Given the description of an element on the screen output the (x, y) to click on. 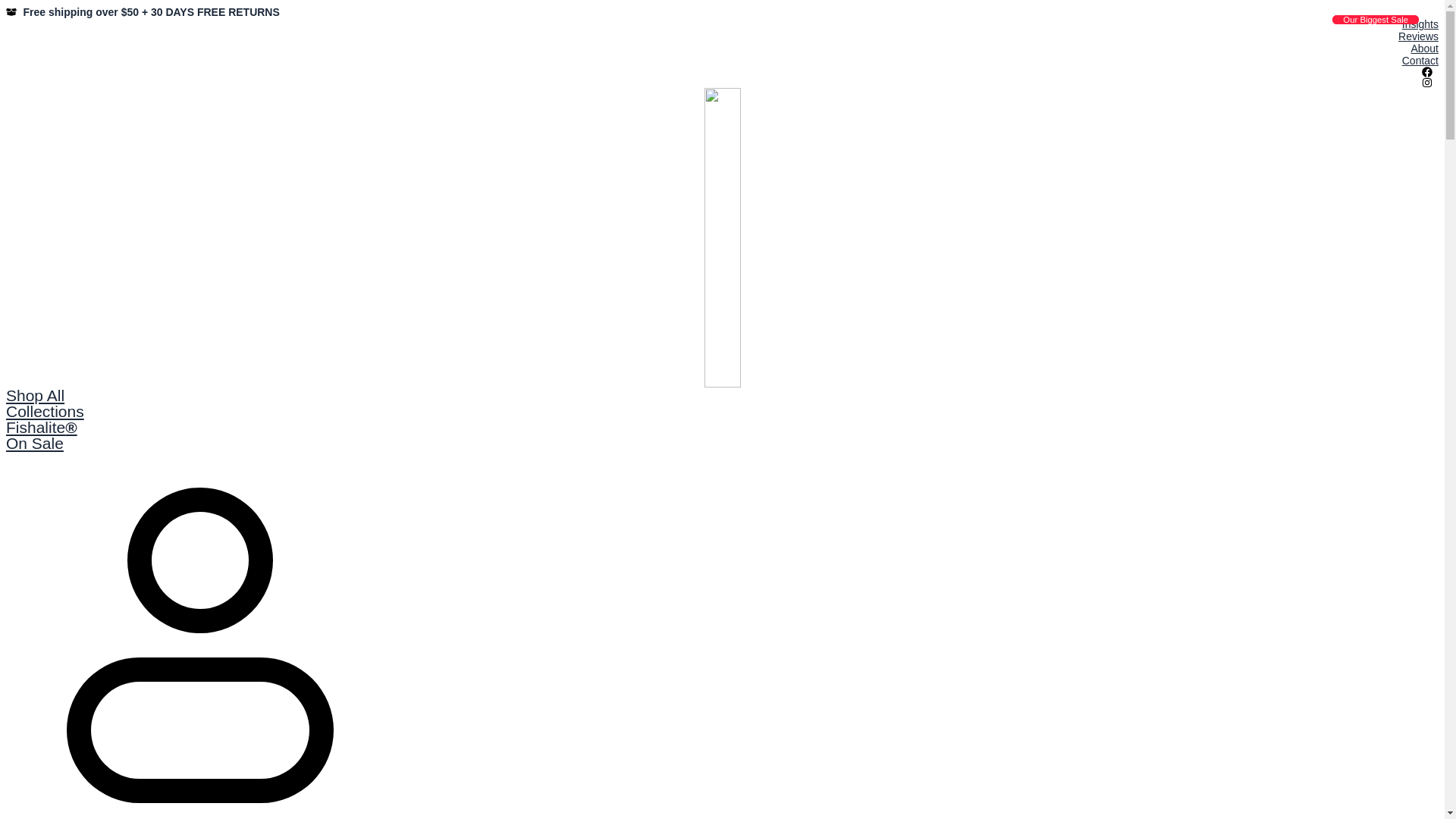
Contact Element type: text (722, 60)
Collections Element type: text (45, 411)
About Element type: text (722, 48)
On Sale Element type: text (34, 442)
Insights Element type: text (722, 24)
Reviews Element type: text (722, 36)
Shop All Element type: text (35, 395)
